Given the description of an element on the screen output the (x, y) to click on. 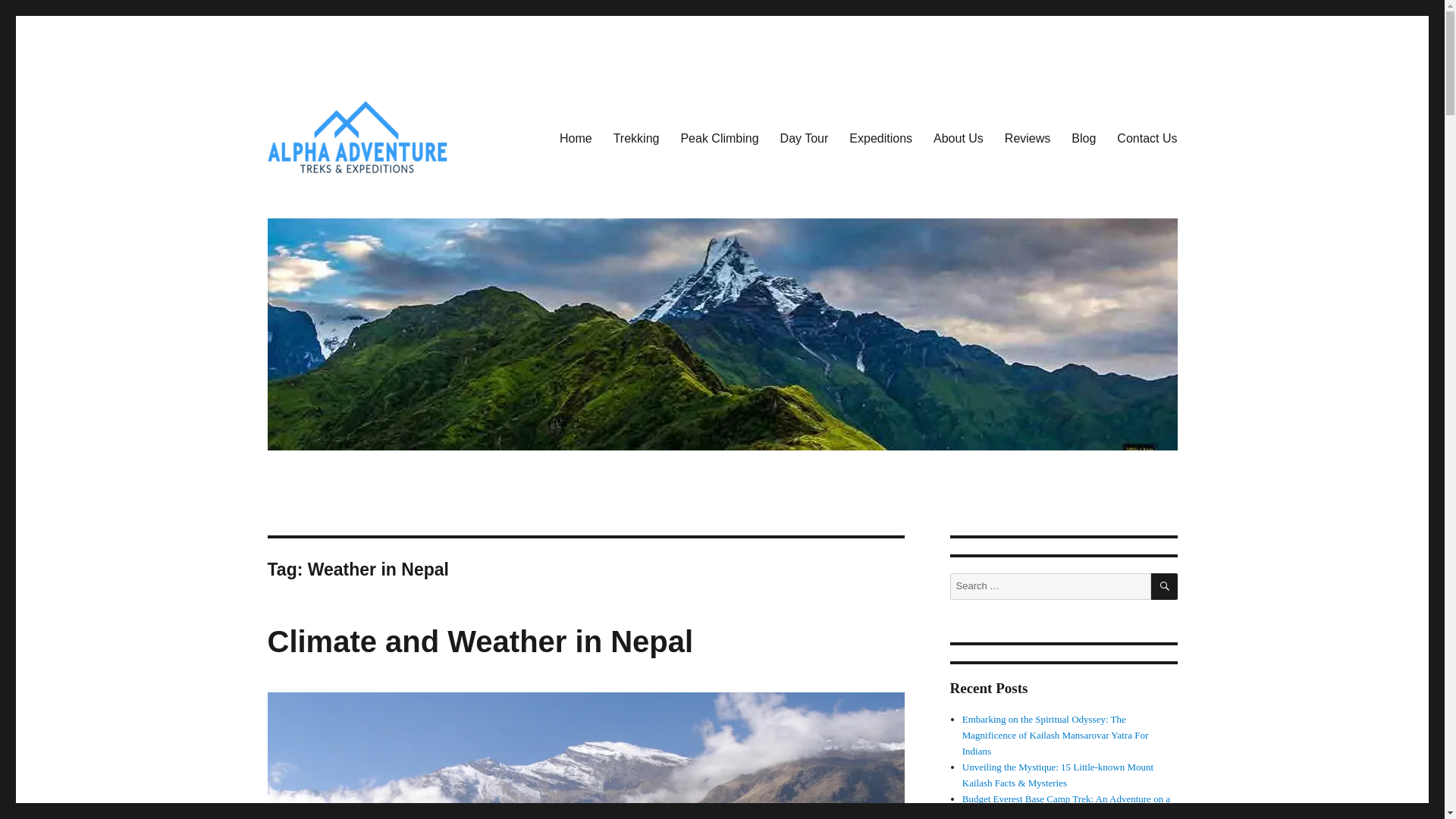
Reviews (1027, 138)
Expeditions (880, 138)
Trekking (635, 138)
Alpha Adventure Treks (381, 199)
Peak Climbing (718, 138)
Day Tour (805, 138)
Blog (1083, 138)
About Us (958, 138)
Contact Us (1147, 138)
Home (575, 138)
Climate and Weather in Nepal (479, 641)
SEARCH (1164, 586)
